Given the description of an element on the screen output the (x, y) to click on. 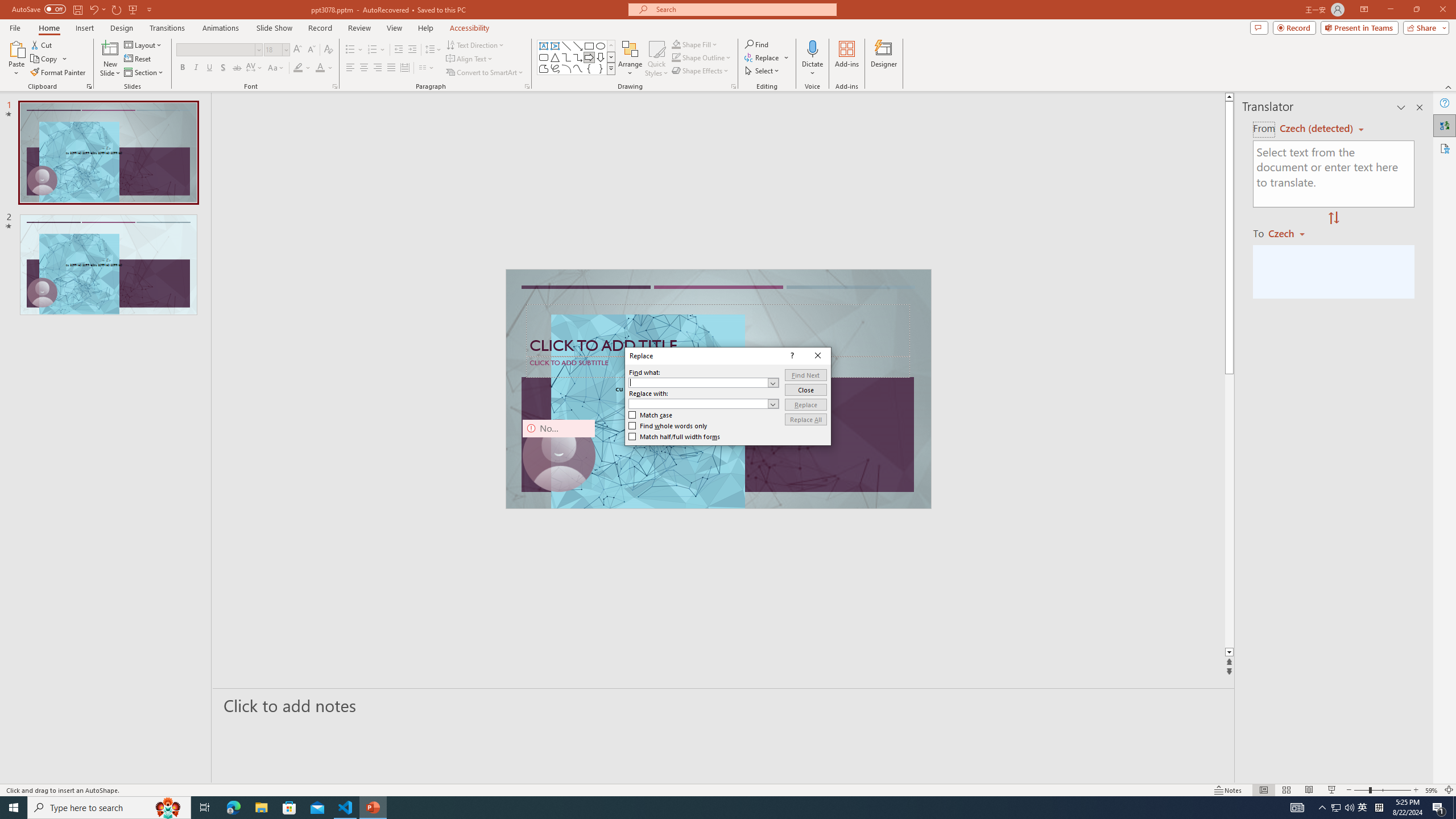
Select (762, 69)
Czech (1291, 232)
Change Case (276, 67)
Camera 9, No camera detected. (558, 455)
Find whole words only (667, 425)
Find what (697, 382)
Match case (650, 414)
Show desktop (1454, 807)
Distributed (404, 67)
